Given the description of an element on the screen output the (x, y) to click on. 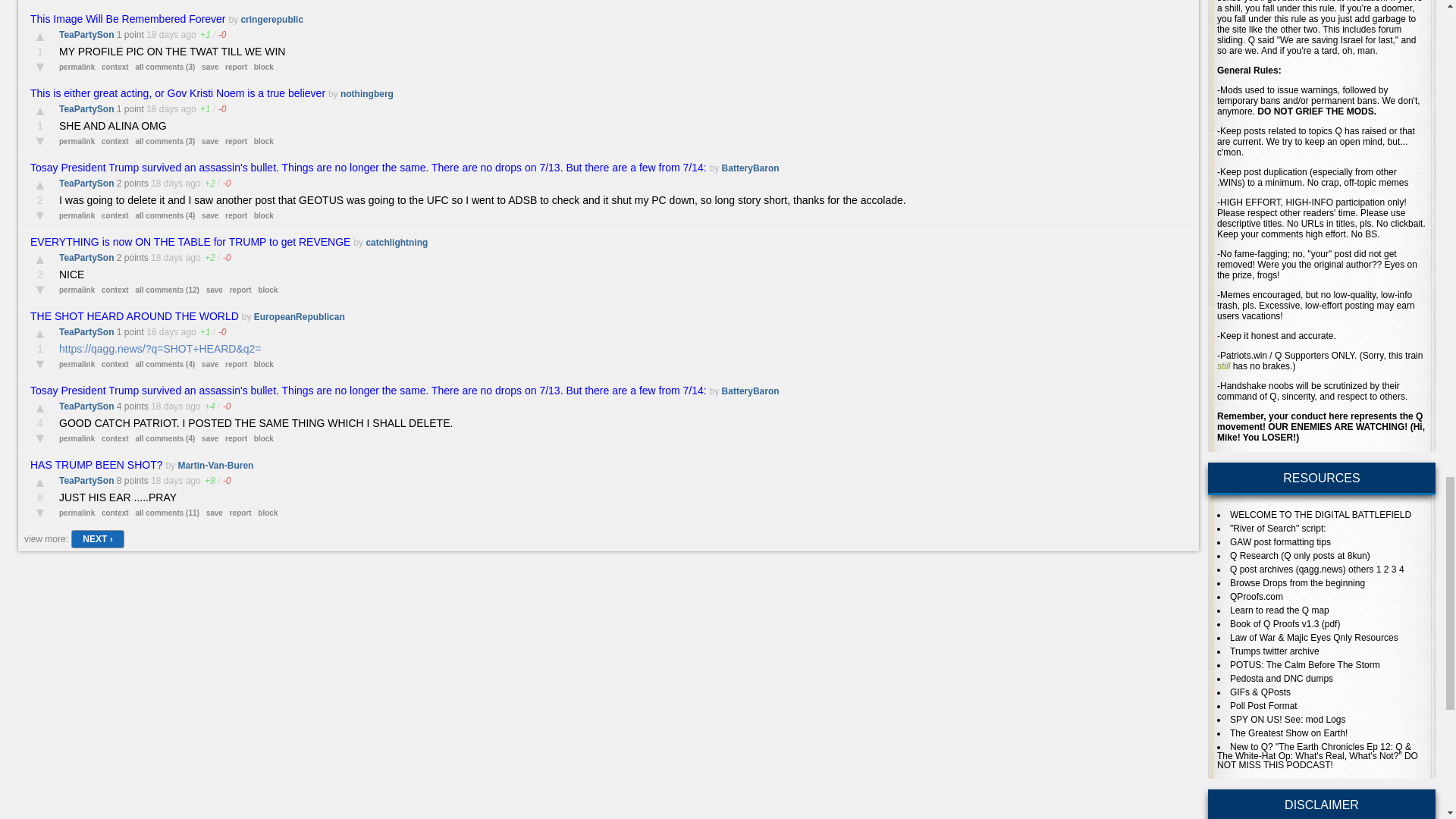
Sun Jul 14 01:59:35 GMT 2024 (162, 34)
Sun Jul 14 01:58:08 GMT 2024 (162, 109)
